Given the description of an element on the screen output the (x, y) to click on. 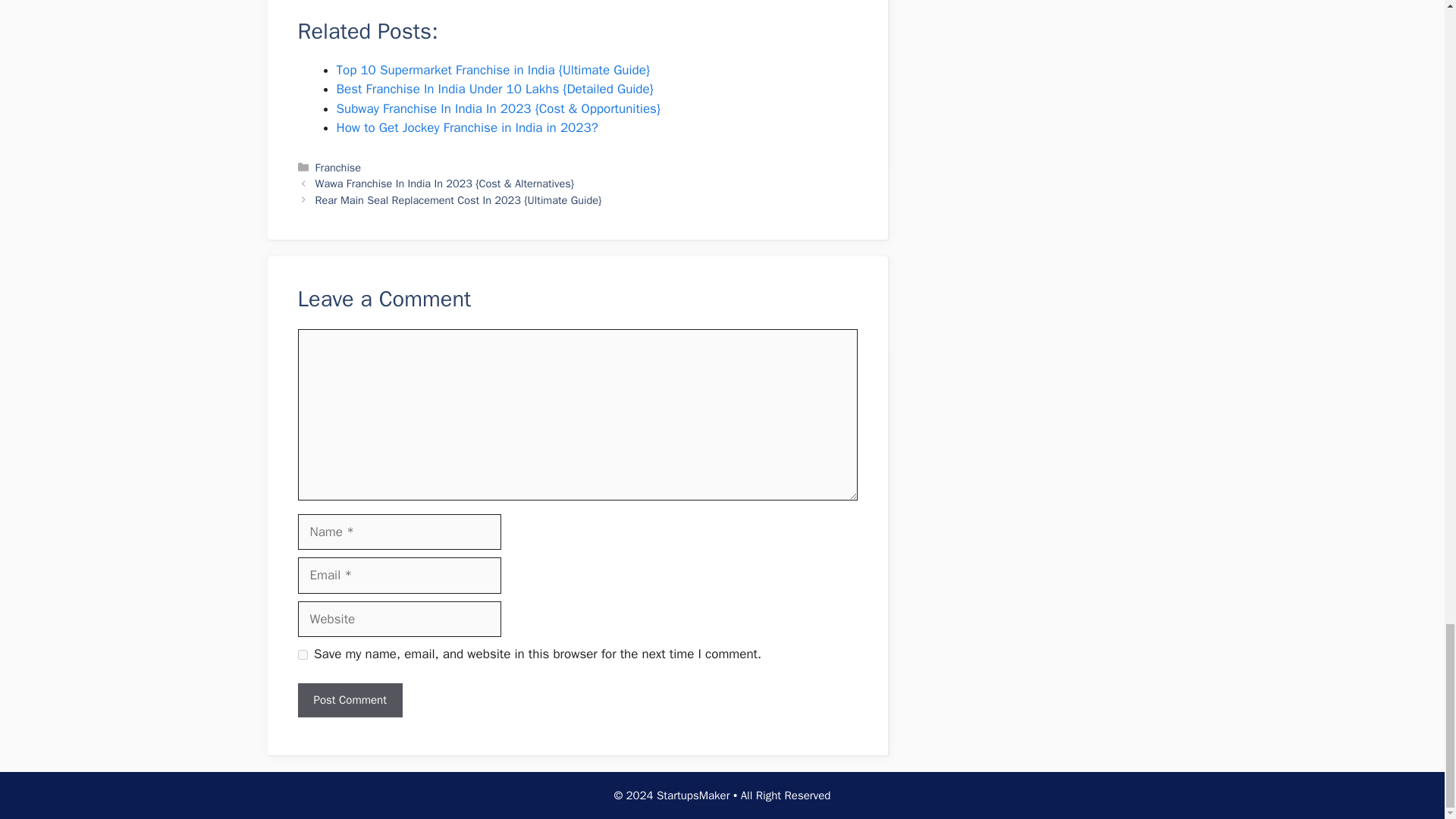
How to Get Jockey Franchise in India in 2023? (467, 127)
Franchise (338, 167)
Post Comment (349, 700)
yes (302, 655)
Post Comment (349, 700)
